Given the description of an element on the screen output the (x, y) to click on. 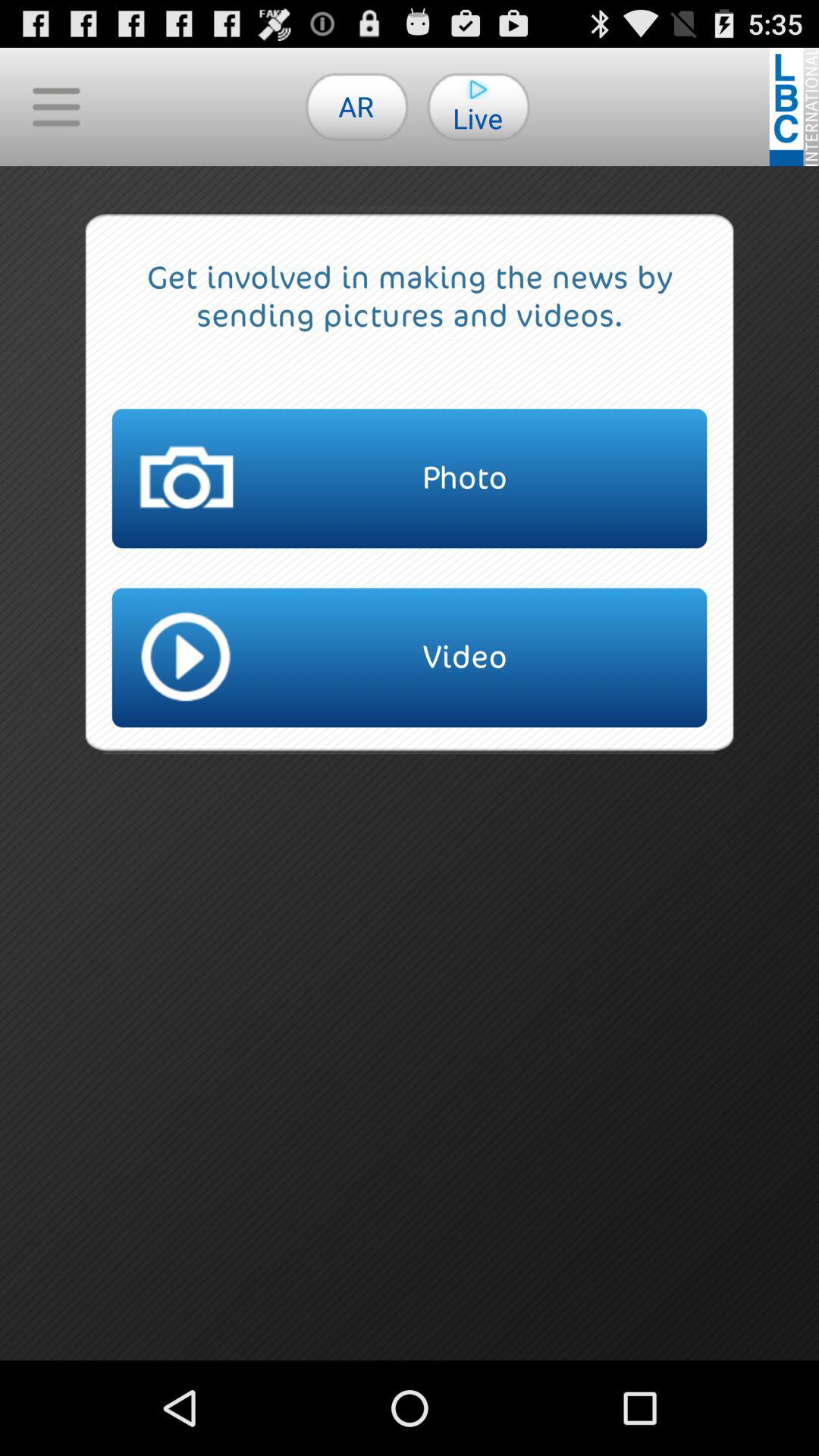
scroll to photo button (409, 478)
